Given the description of an element on the screen output the (x, y) to click on. 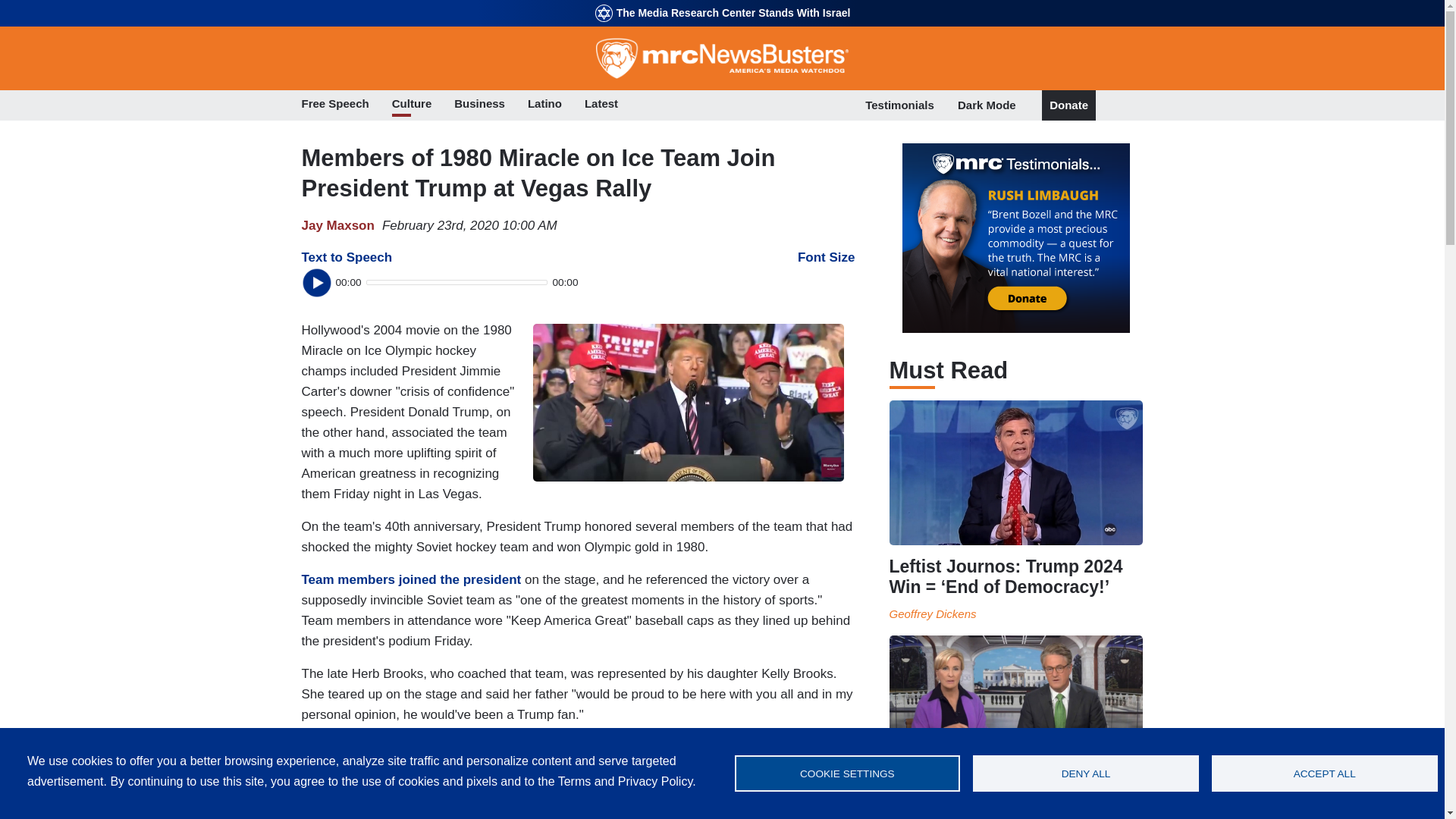
Free Speech (335, 105)
Latino (544, 105)
Culture (411, 105)
ACCEPT ALL (1324, 773)
Latest (601, 105)
DENY ALL (1085, 773)
COOKIE SETTINGS (846, 773)
Dark Mode (987, 104)
Business (479, 105)
Skip to main content (721, 1)
Testimonials (899, 104)
